Given the description of an element on the screen output the (x, y) to click on. 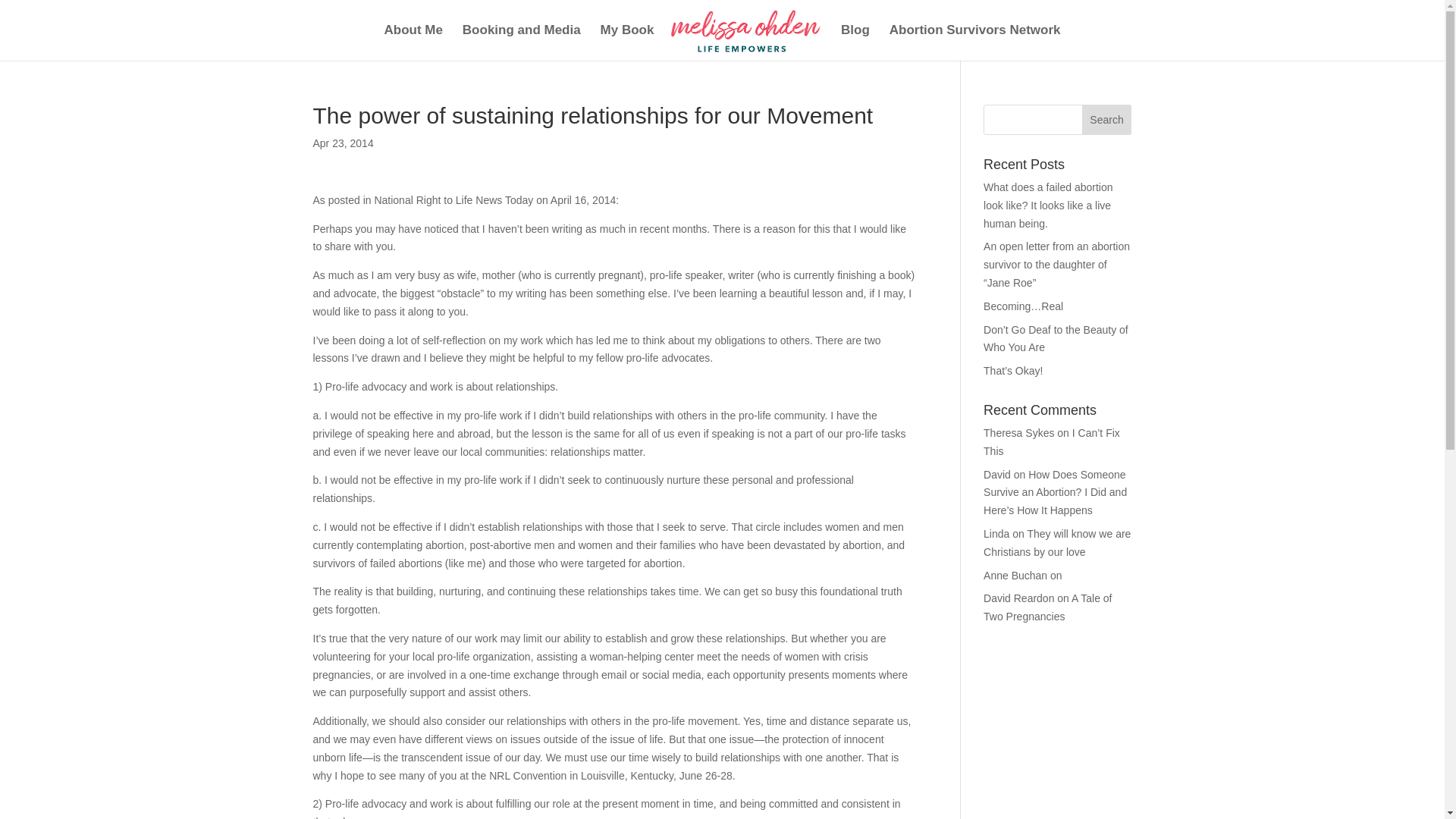
Blog (855, 42)
A Tale of Two Pregnancies (1048, 607)
About Me (413, 42)
Search (1106, 119)
Booking and Media (521, 42)
David Reardon (1019, 598)
My Book (626, 42)
Search (1106, 119)
They will know we are Christians by our love (1057, 542)
Abortion Survivors Network (975, 42)
